Given the description of an element on the screen output the (x, y) to click on. 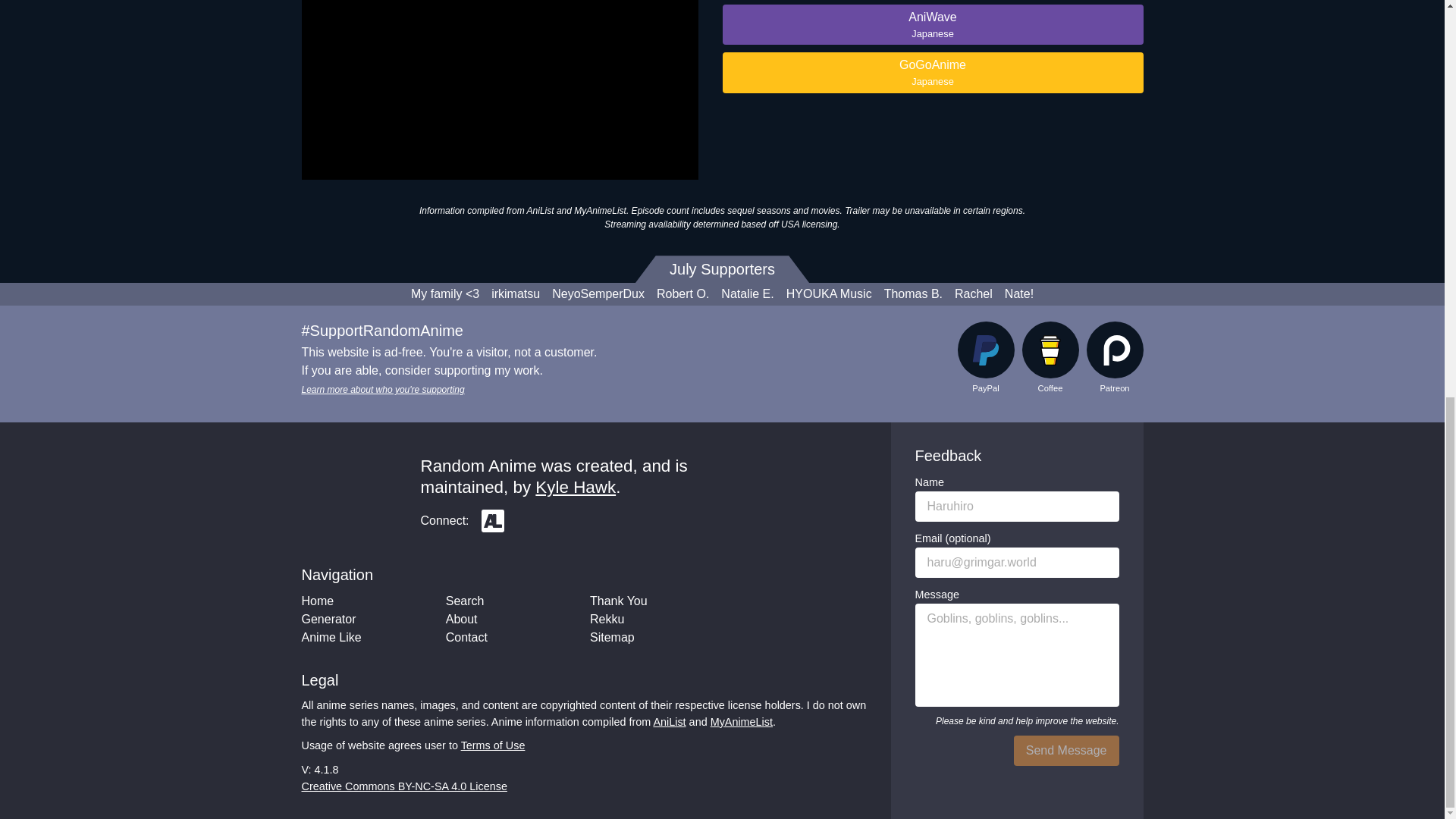
Contact (466, 636)
Anime Like (331, 636)
Sitemap (611, 636)
Send Message (1066, 750)
About (461, 618)
AniList (492, 520)
AniList (668, 721)
MyAnimeList (741, 721)
Learn more about who you're supporting (382, 389)
Generator (328, 618)
